Given the description of an element on the screen output the (x, y) to click on. 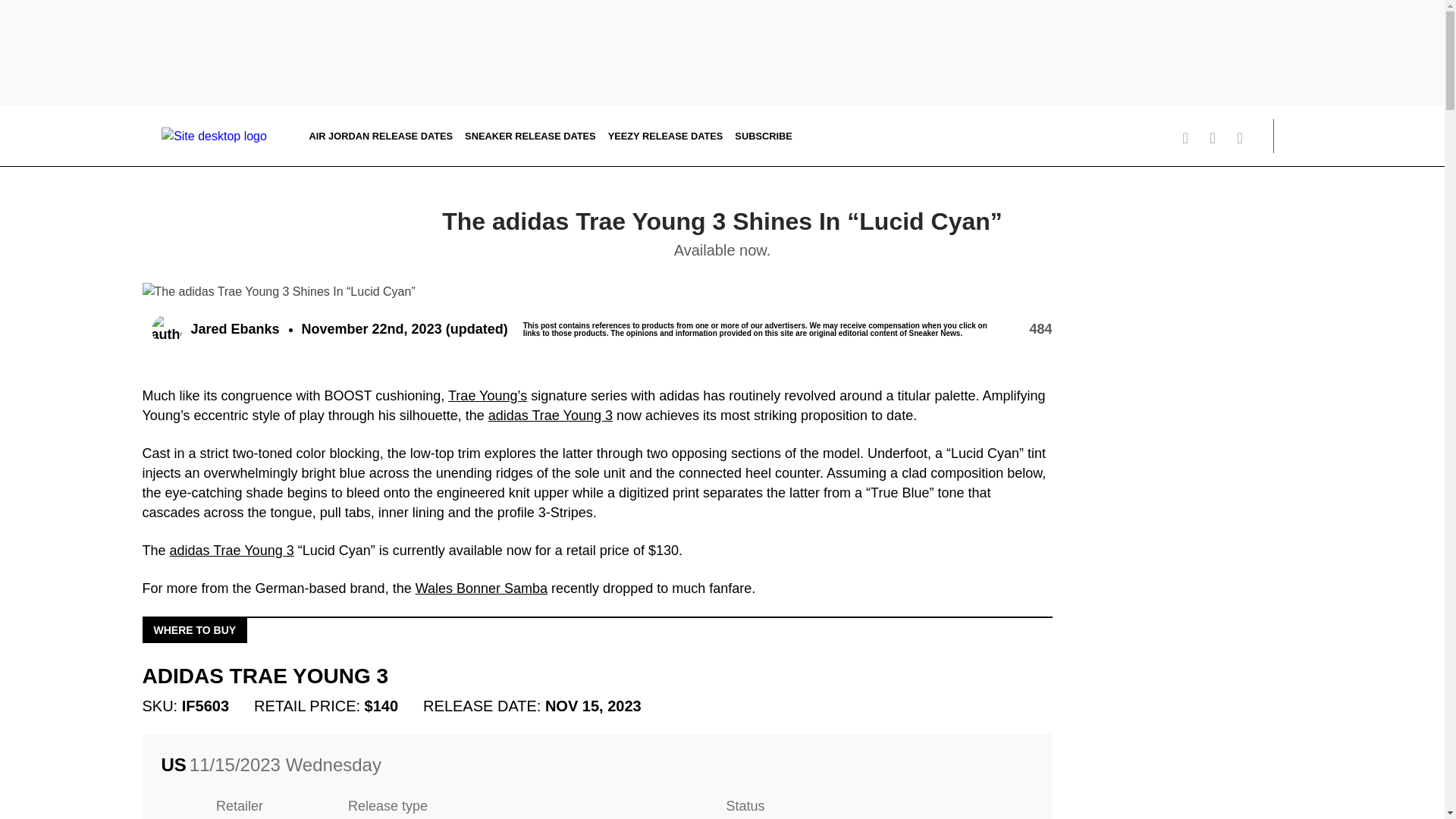
Search (1292, 136)
adidas Trae Young 3 (549, 415)
AIR JORDAN RELEASE DATES (380, 135)
Skip to main content (4, 121)
Jared Ebanks (215, 329)
YEEZY RELEASE DATES (665, 135)
SUBSCRIBE (763, 135)
Facebook (1244, 137)
Instagram (1217, 137)
SNEAKER RELEASE DATES (529, 135)
